Given the description of an element on the screen output the (x, y) to click on. 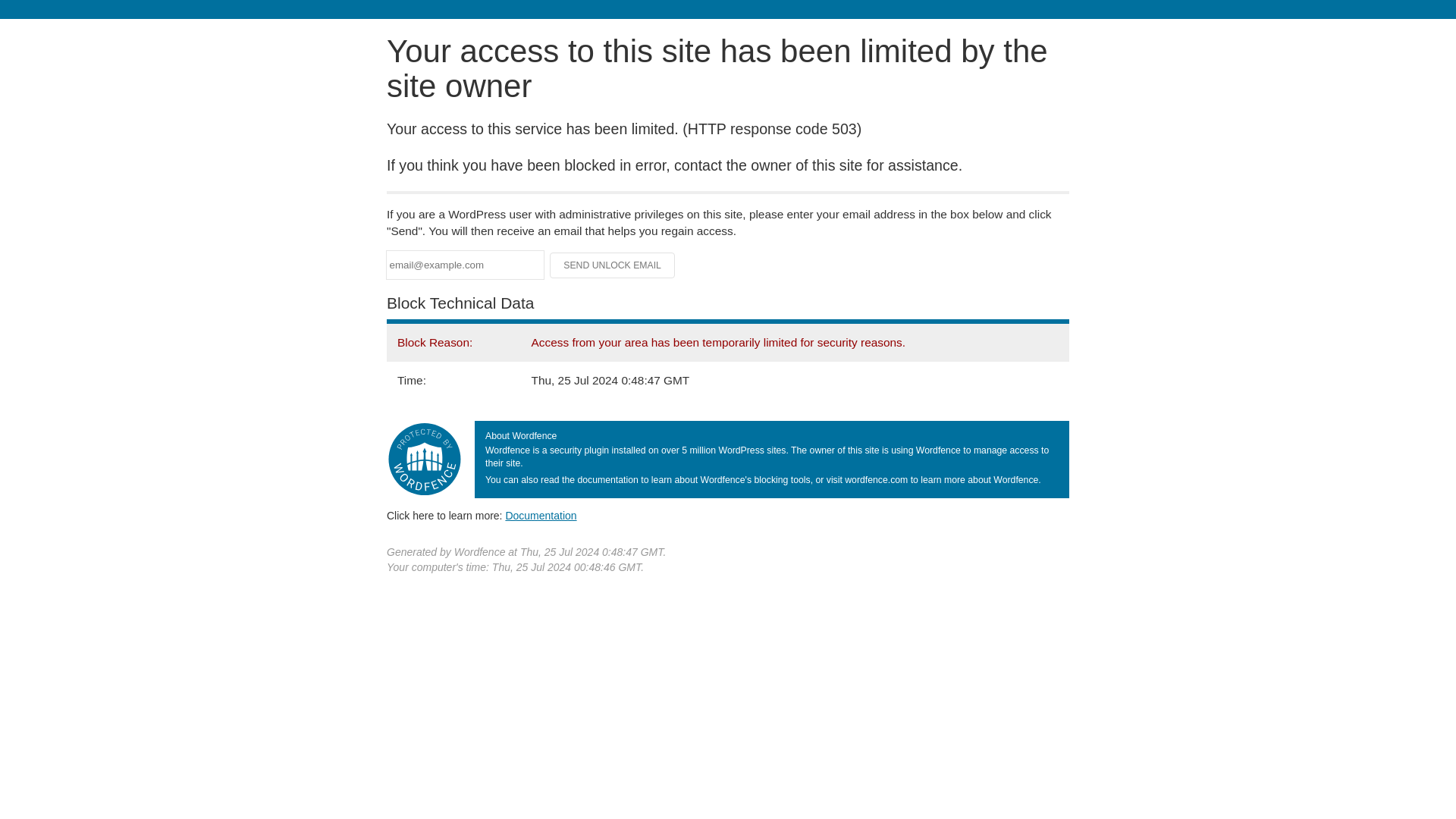
Send Unlock Email (612, 265)
Send Unlock Email (612, 265)
Documentation (540, 515)
